Given the description of an element on the screen output the (x, y) to click on. 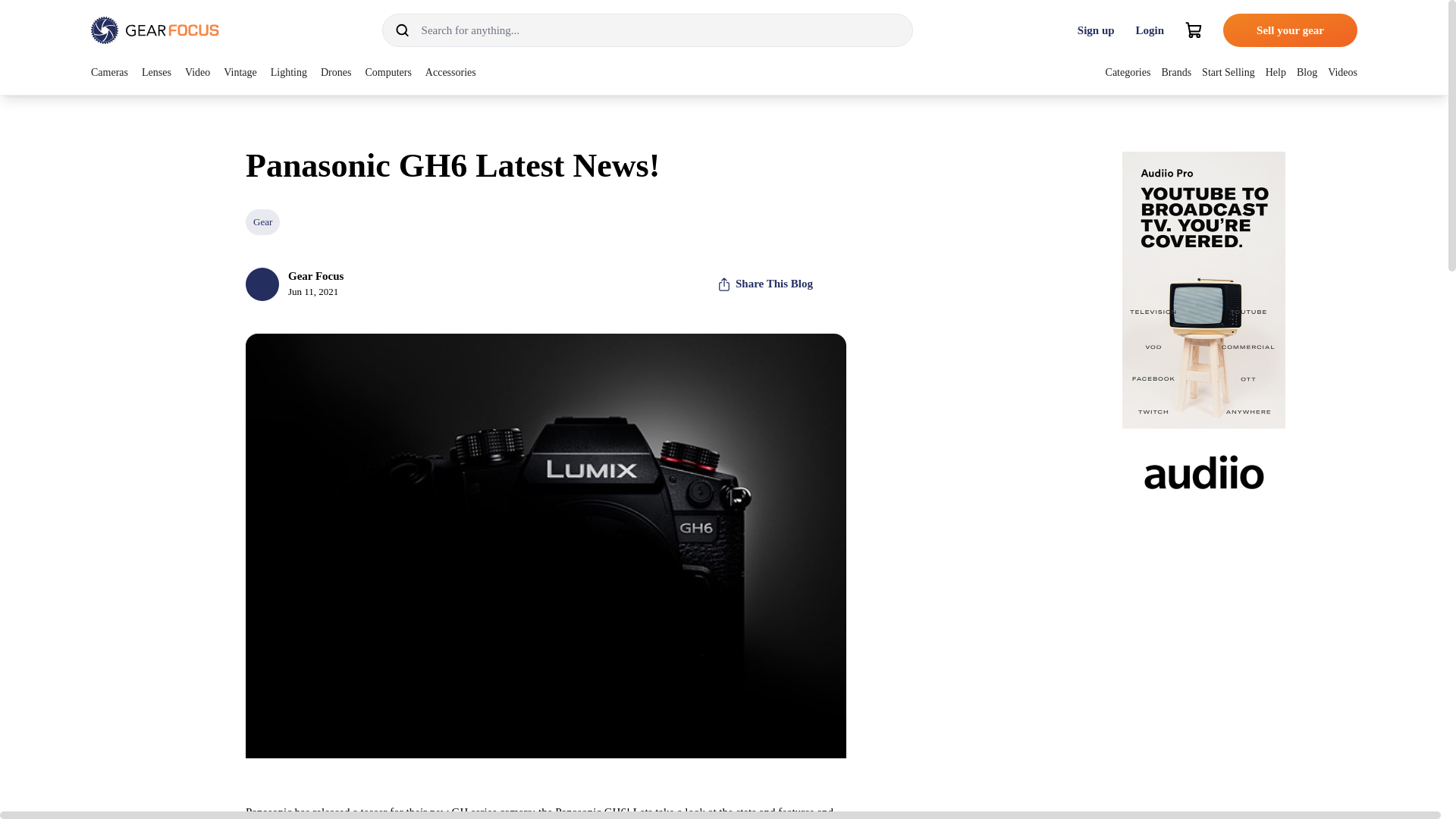
Lenses (156, 71)
Share This Blog (763, 284)
Sell your gear (1289, 29)
Start Selling (1228, 71)
Cameras (109, 71)
Gear Focus, Your New And Use Camera Marketplace (154, 29)
Sign up (1096, 30)
Blog (1307, 71)
Lighting (288, 71)
Brands (1175, 71)
